Given the description of an element on the screen output the (x, y) to click on. 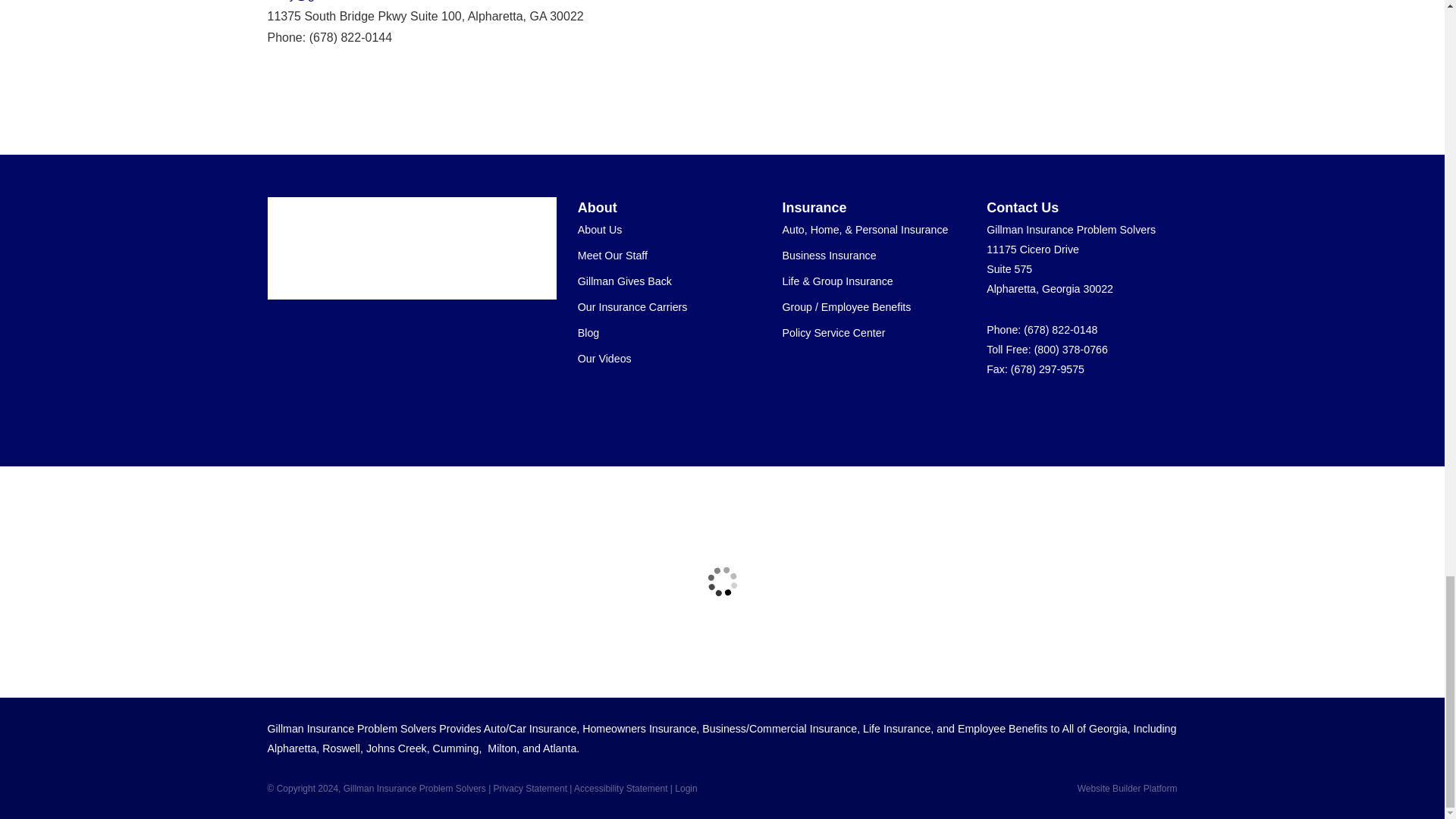
Instagram (1158, 411)
X (1078, 411)
Yelp (1024, 411)
Google Maps (997, 411)
Facebook (1051, 411)
YouTube (1131, 411)
Gillman Insurance Problem Solvers, Alpharetta (401, 248)
LinkedIn (1104, 411)
